Given the description of an element on the screen output the (x, y) to click on. 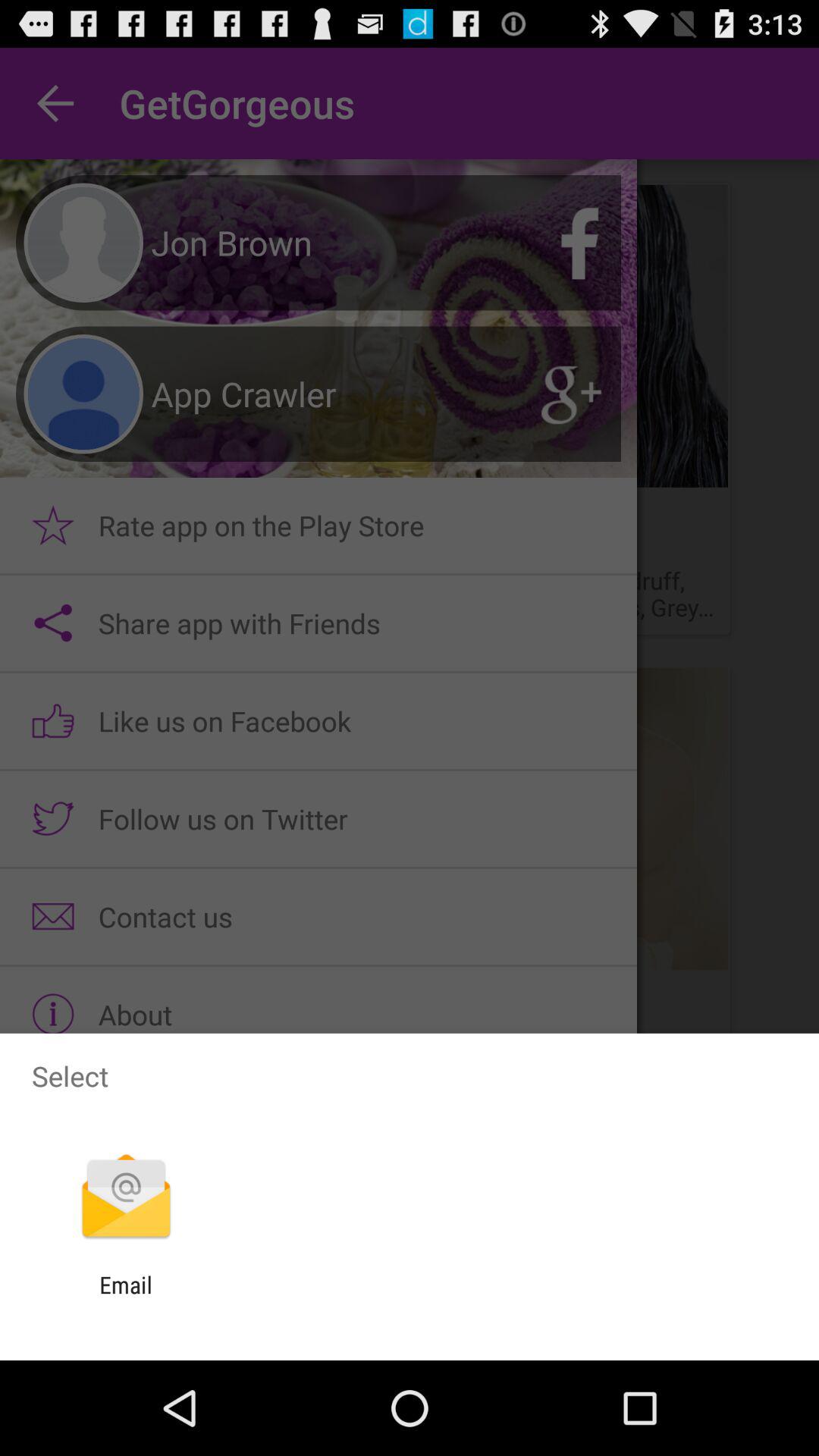
turn on icon above email app (126, 1198)
